Given the description of an element on the screen output the (x, y) to click on. 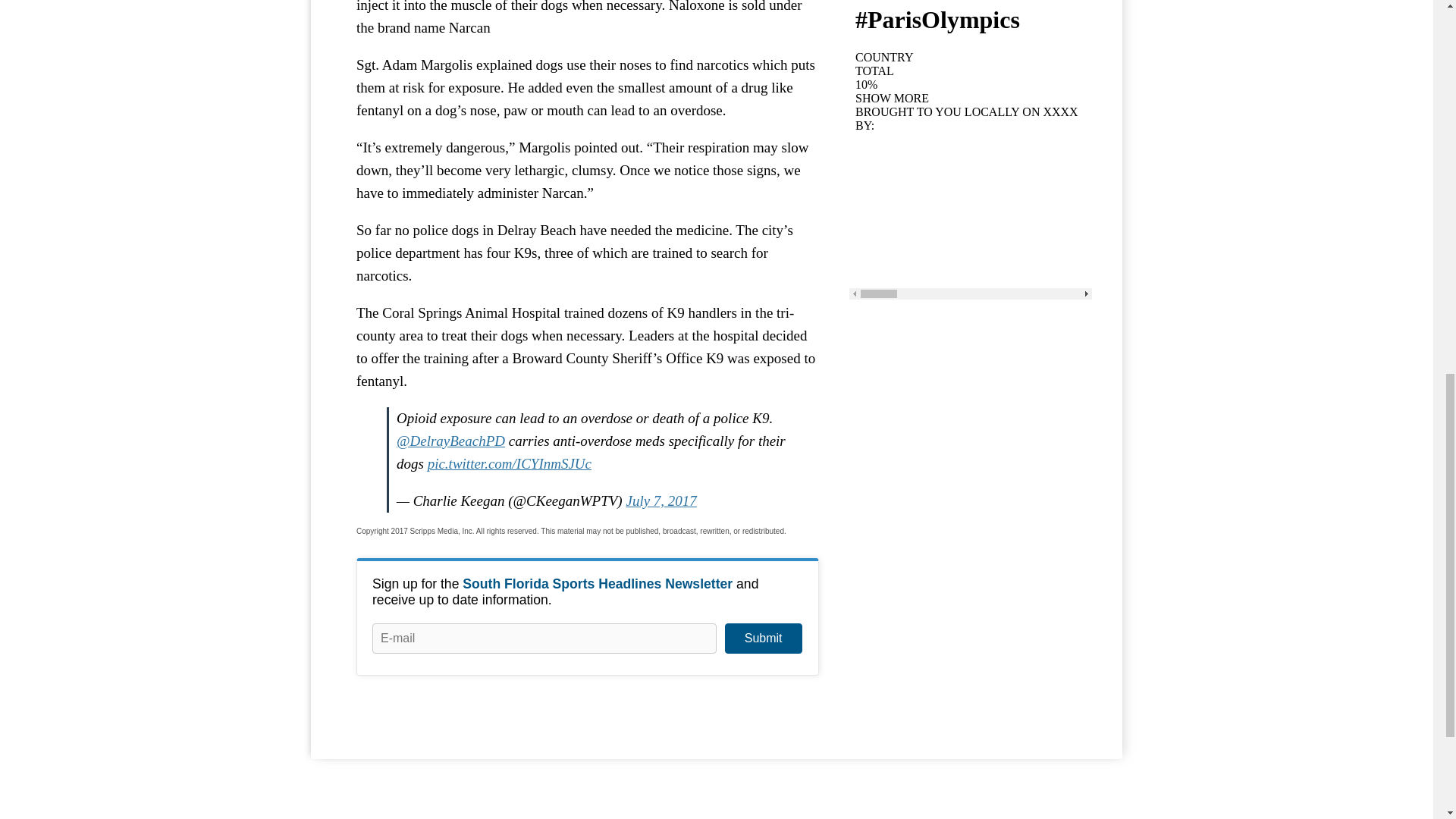
Submit (763, 638)
